Given the description of an element on the screen output the (x, y) to click on. 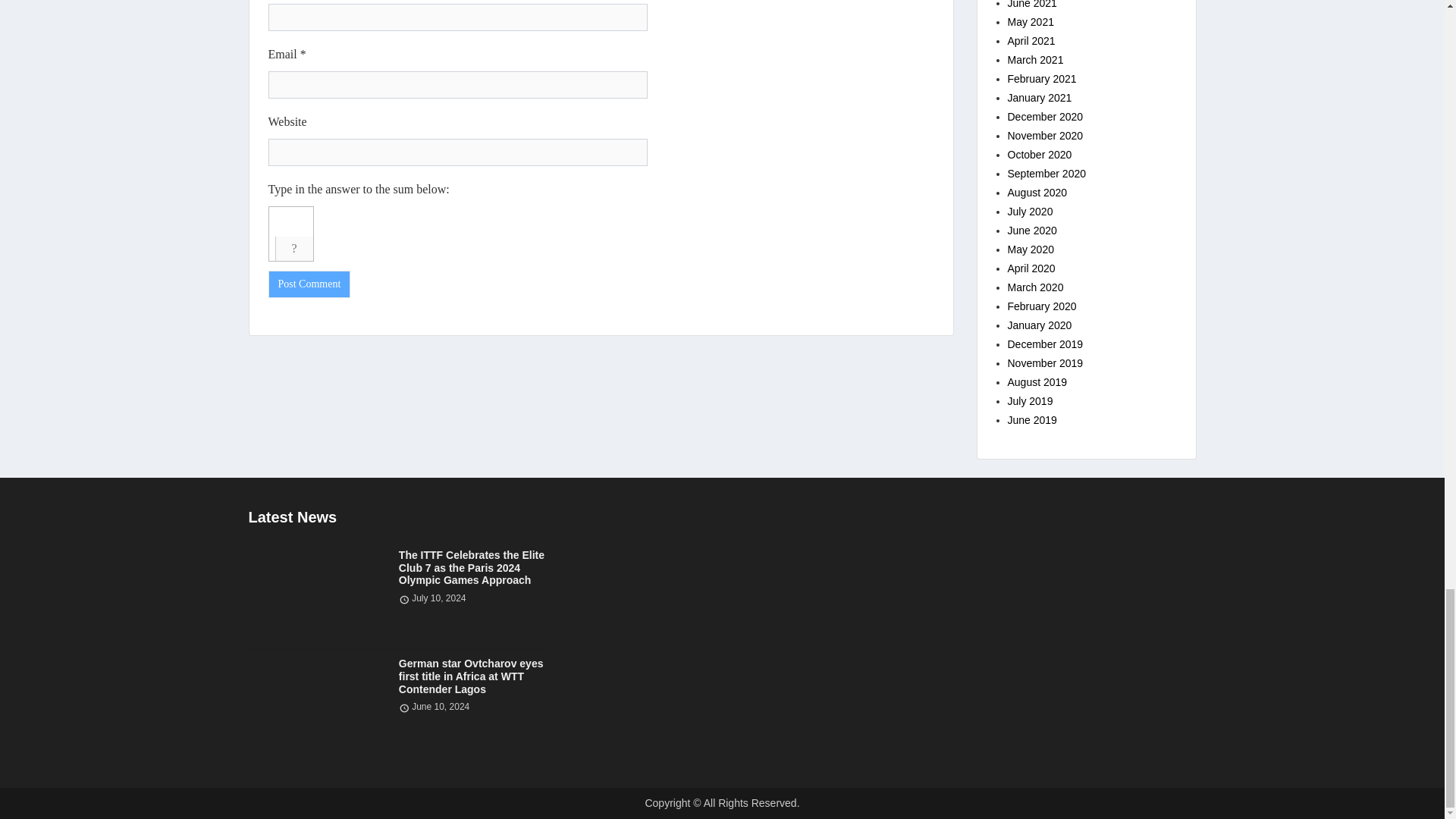
Post Comment (308, 284)
